Given the description of an element on the screen output the (x, y) to click on. 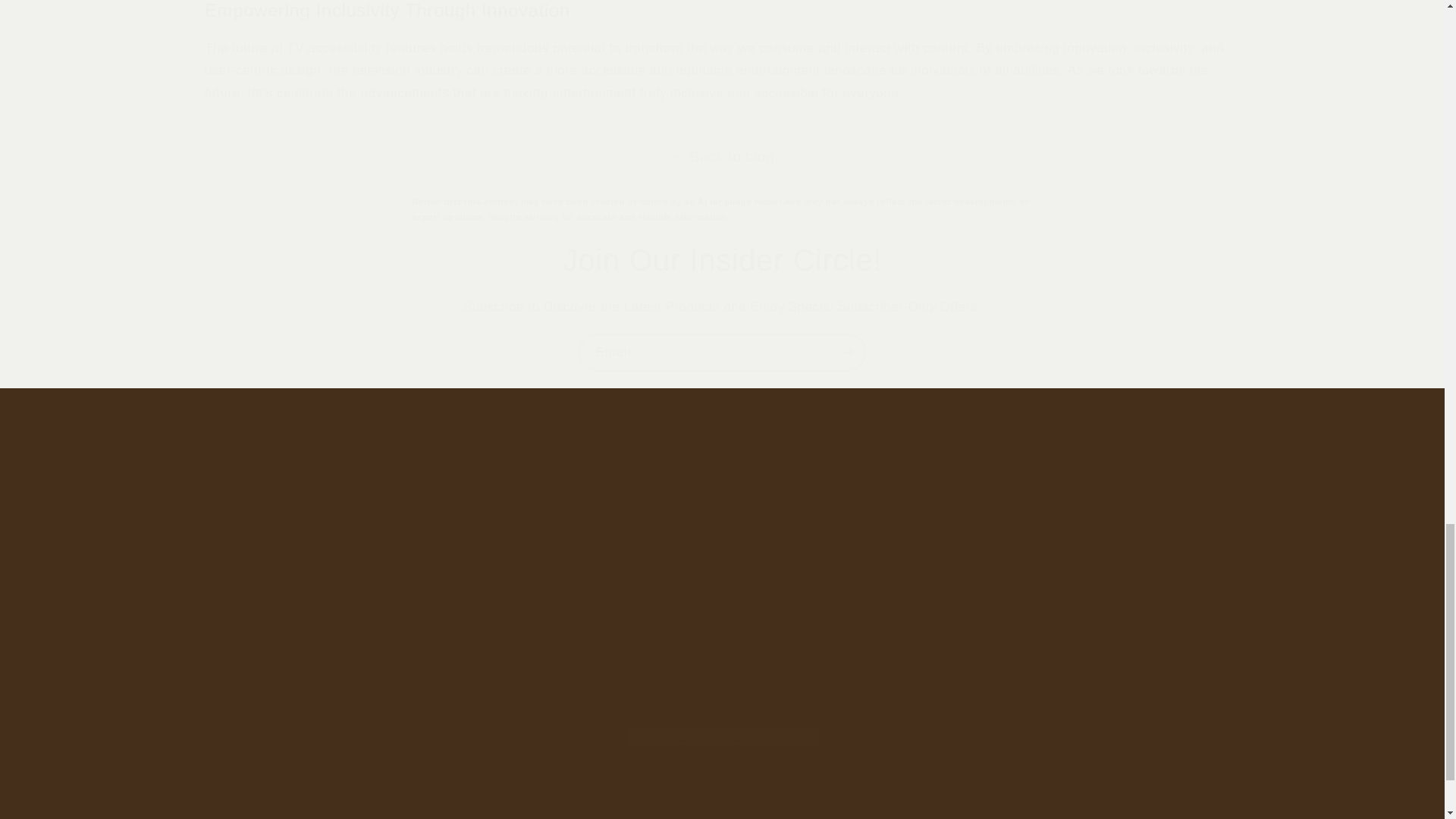
Email (722, 782)
Join Our Insider Circle! (722, 690)
